Given the description of an element on the screen output the (x, y) to click on. 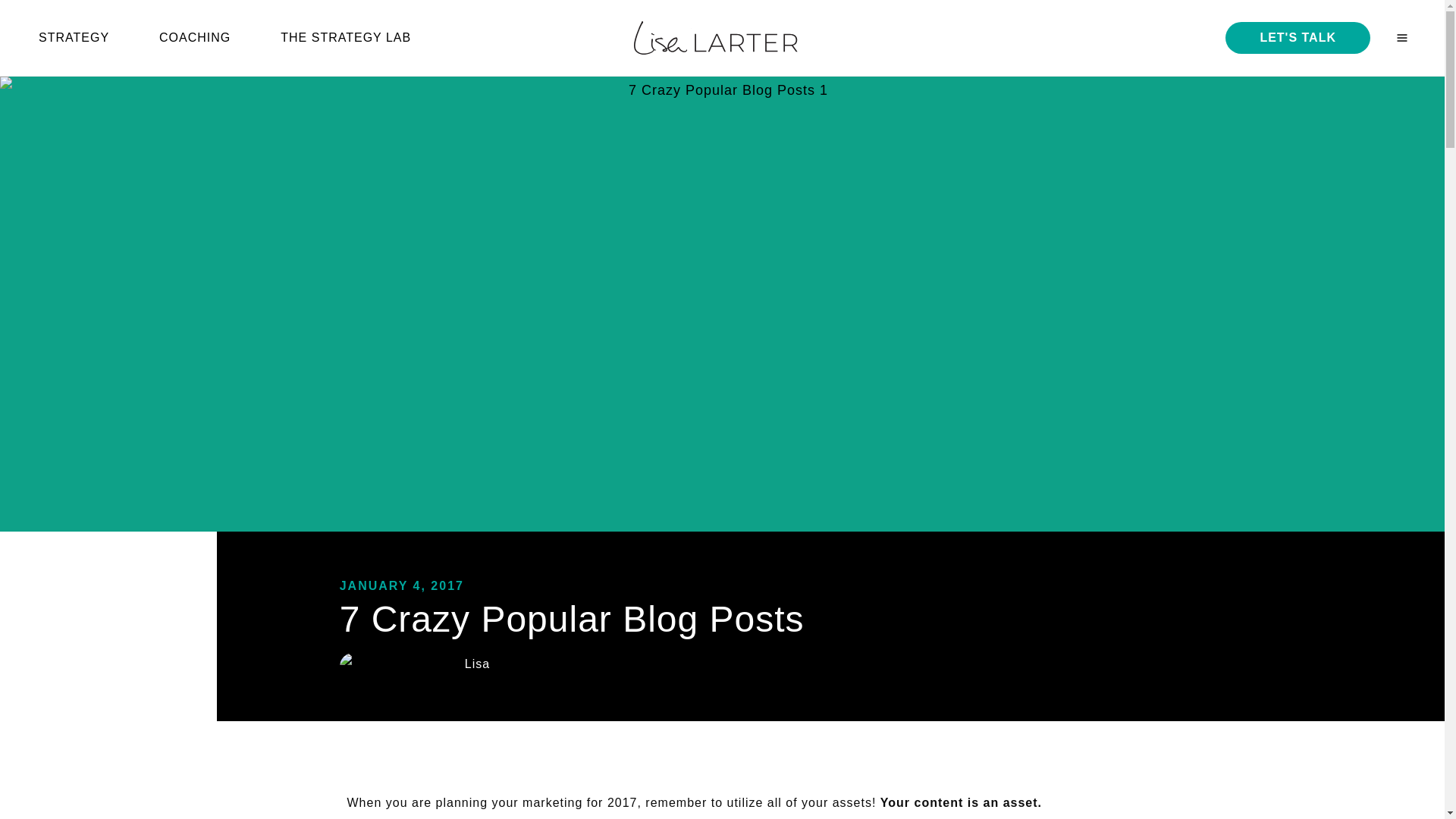
THE STRATEGY LAB (357, 37)
COACHING (207, 37)
LET'S TALK (1297, 38)
JANUARY 4, 2017 (401, 585)
STRATEGY (86, 37)
